Given the description of an element on the screen output the (x, y) to click on. 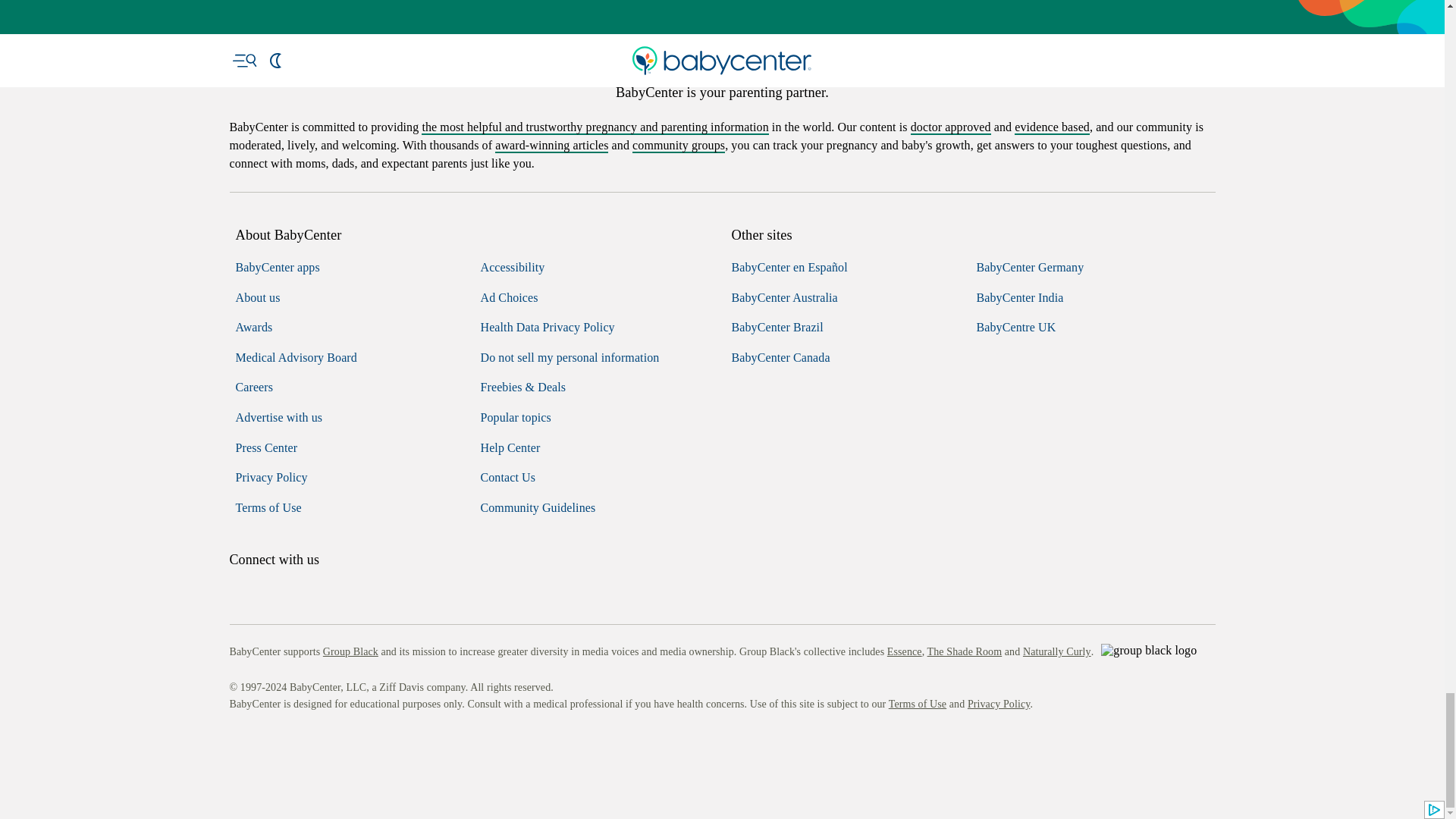
BabyCenter Twitter feed (379, 743)
BabyCenter Instagram feed (274, 743)
BabyCenter Facebook page (239, 743)
BabyCenter YouTube channel (344, 743)
BabyCenter Pinterest board (309, 743)
